Given the description of an element on the screen output the (x, y) to click on. 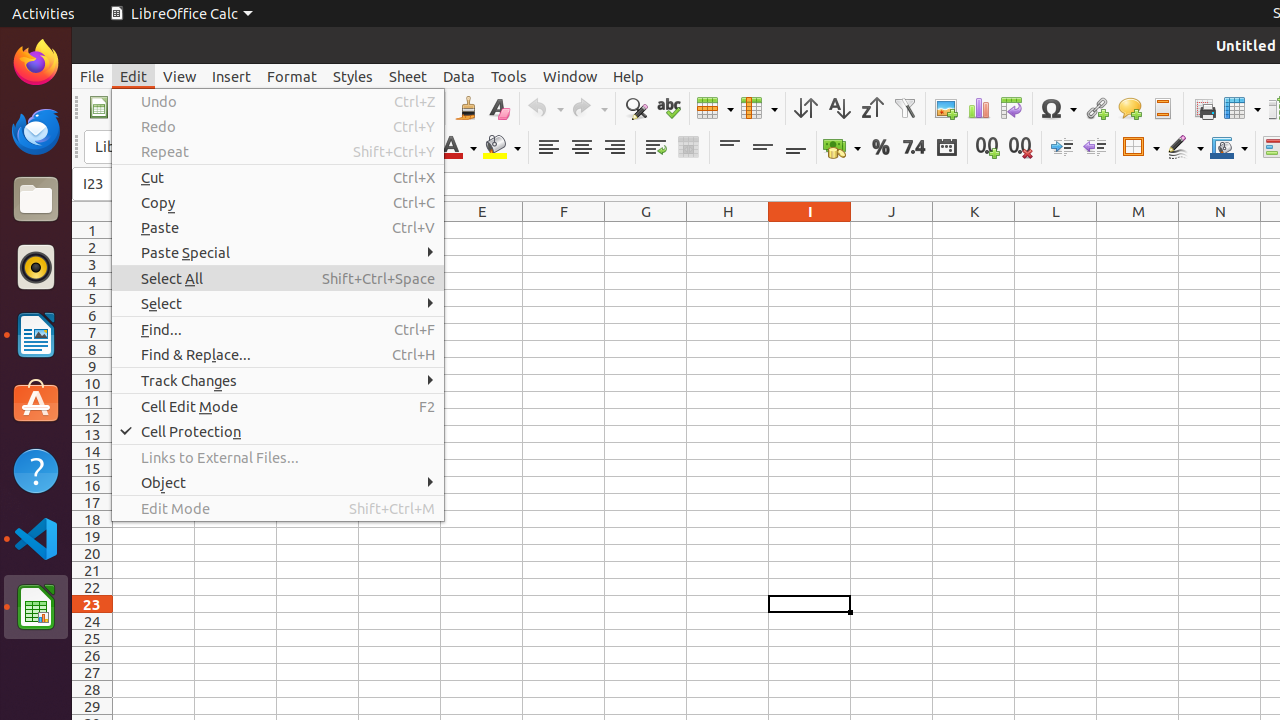
N1 Element type: table-cell (1220, 230)
Chart Element type: push-button (978, 108)
Borders (Shift to overwrite) Element type: push-button (1141, 147)
Sheet Element type: menu (408, 76)
Links to External Files... Element type: menu-item (278, 457)
